Given the description of an element on the screen output the (x, y) to click on. 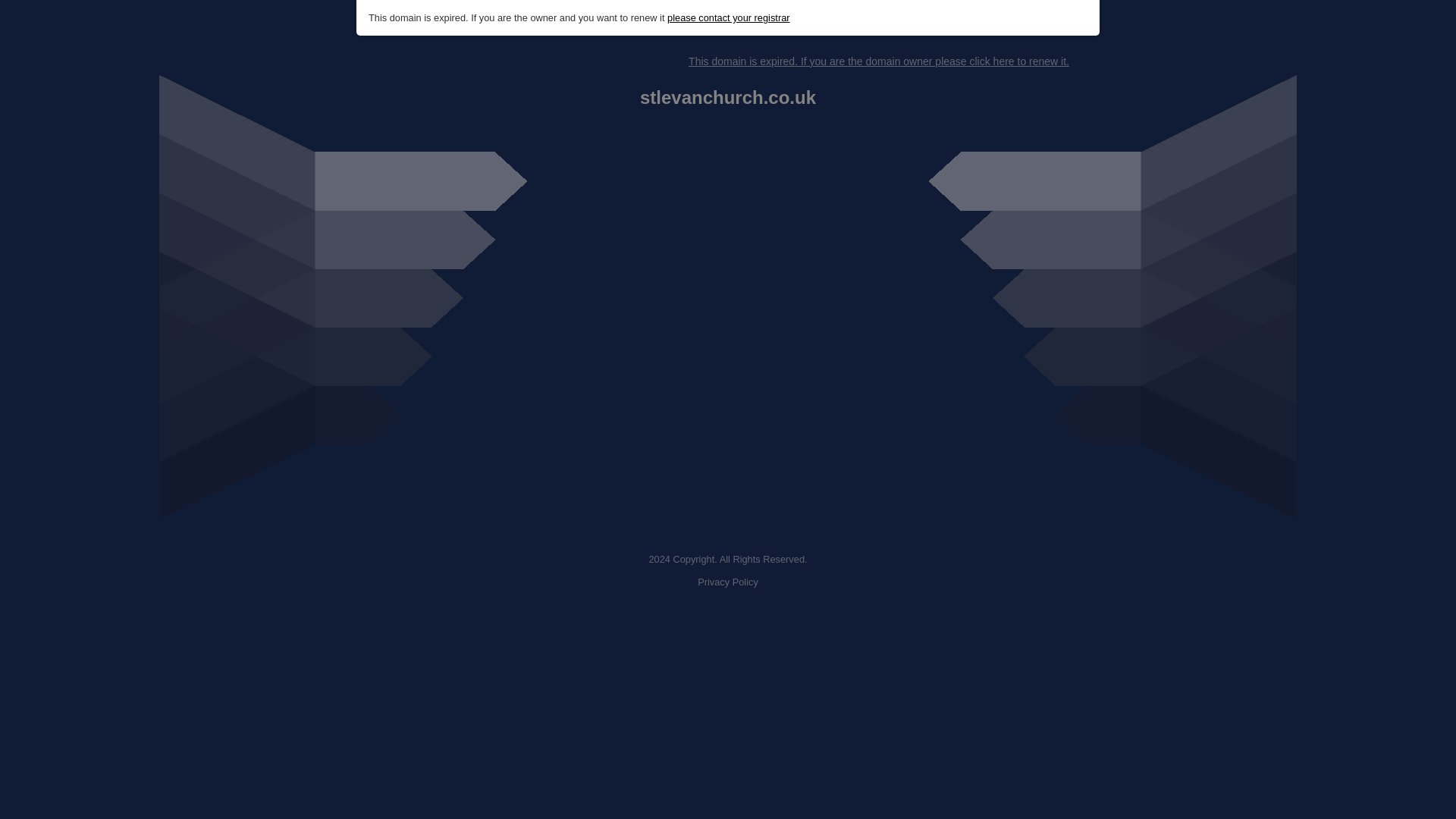
please contact your registrar (727, 17)
Privacy Policy (727, 582)
